Given the description of an element on the screen output the (x, y) to click on. 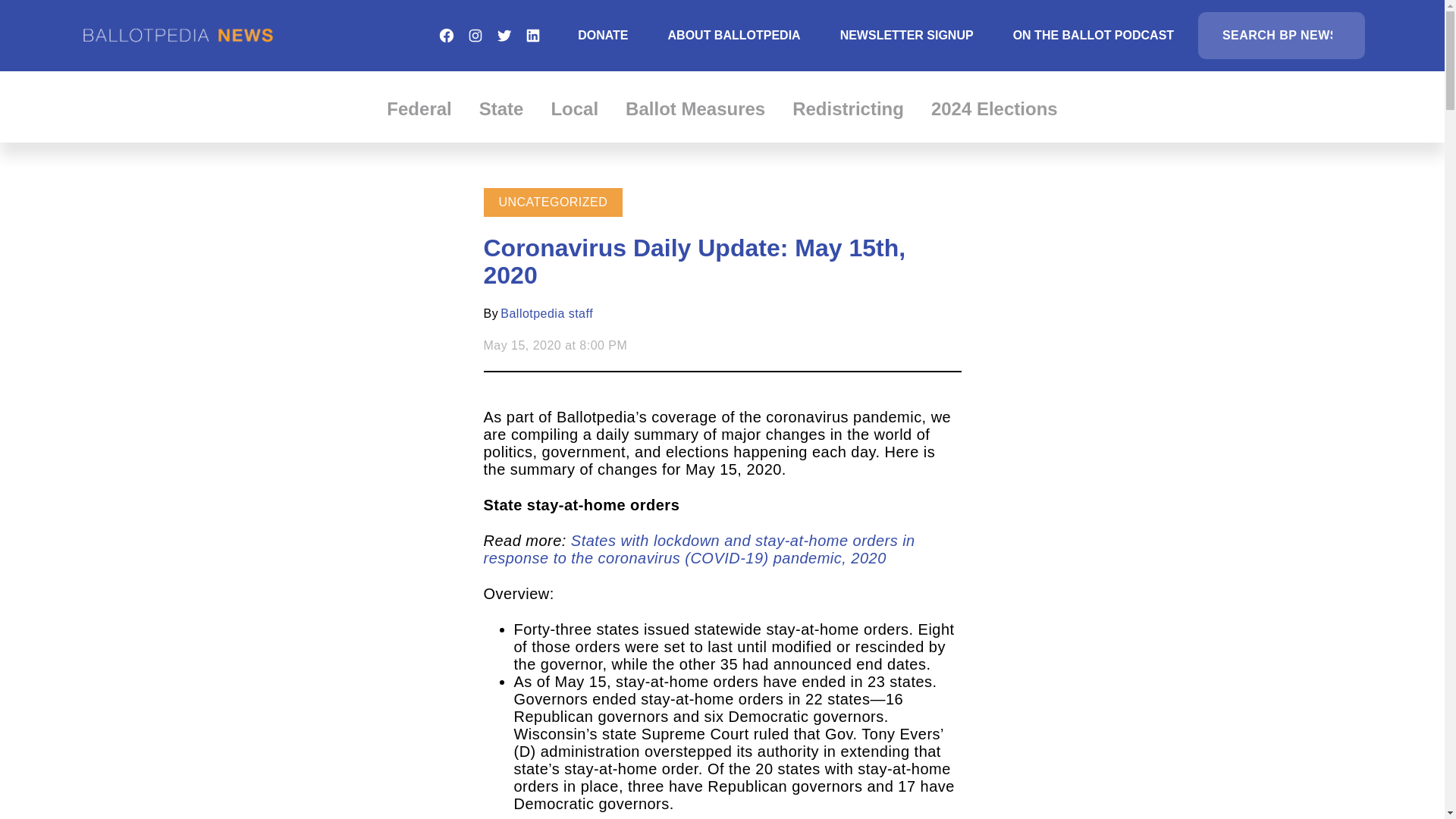
Ballot Measures (695, 108)
Local (574, 108)
UNCATEGORIZED (553, 201)
Ballotpedia staff (546, 313)
State (501, 108)
DONATE (602, 35)
Redistricting (848, 108)
ABOUT BALLOTPEDIA (734, 35)
ON THE BALLOT PODCAST (1093, 35)
LinkedIn (532, 35)
Federal (419, 108)
2024 Elections (994, 108)
Facebook (446, 35)
Instagram (475, 35)
Twitter (504, 35)
